Given the description of an element on the screen output the (x, y) to click on. 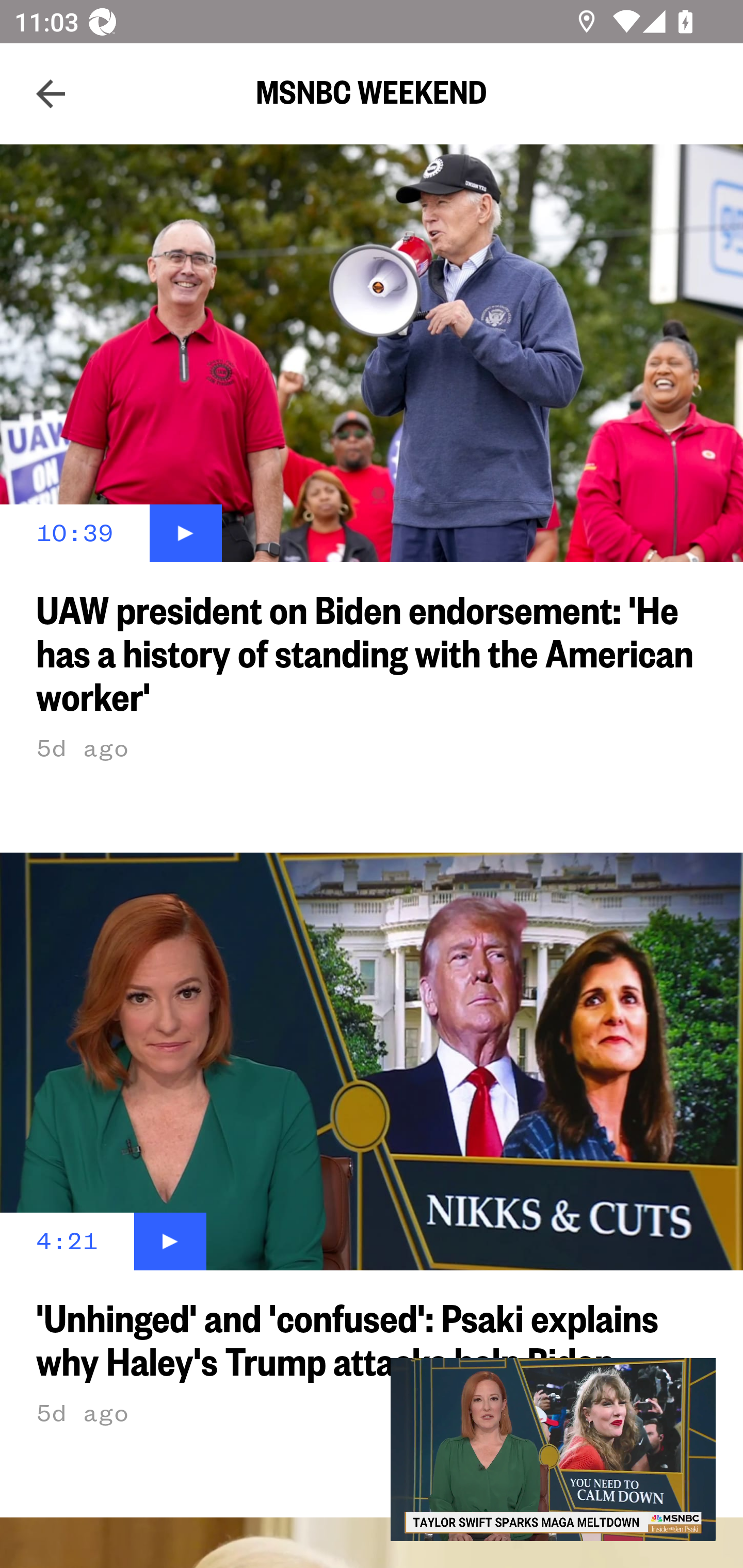
Navigate up (50, 93)
